Given the description of an element on the screen output the (x, y) to click on. 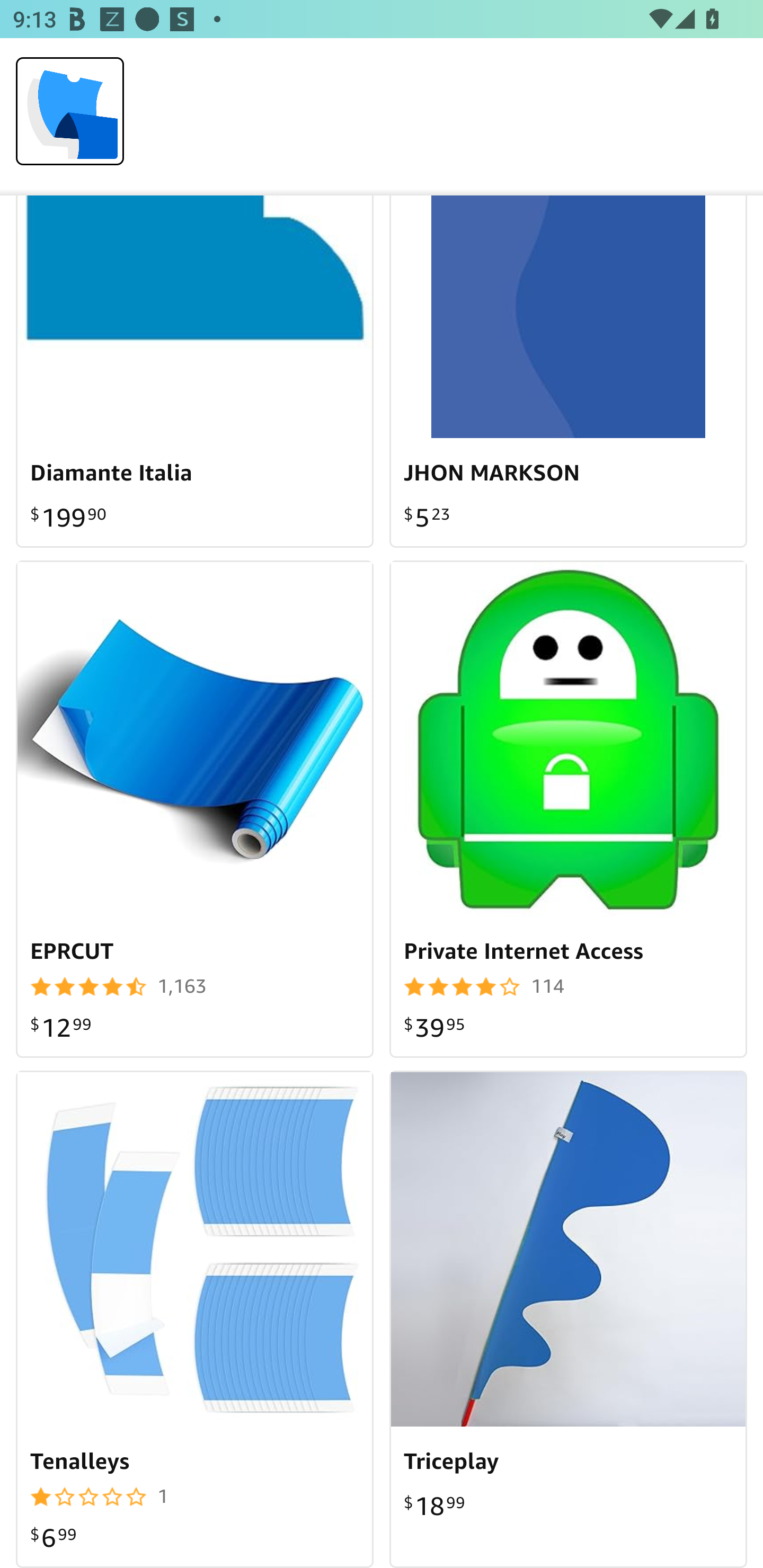
Diamante Italia $ 199 90 (194, 371)
JHON MARKSON $ 5 23 (567, 371)
EPRCUT 1,163 $ 12 99 (194, 808)
Private Internet Access 114 $ 39 95 (567, 808)
Tenalleys 1 $ 6 99 (194, 1319)
Triceplay $ 18 99 (567, 1319)
